Given the description of an element on the screen output the (x, y) to click on. 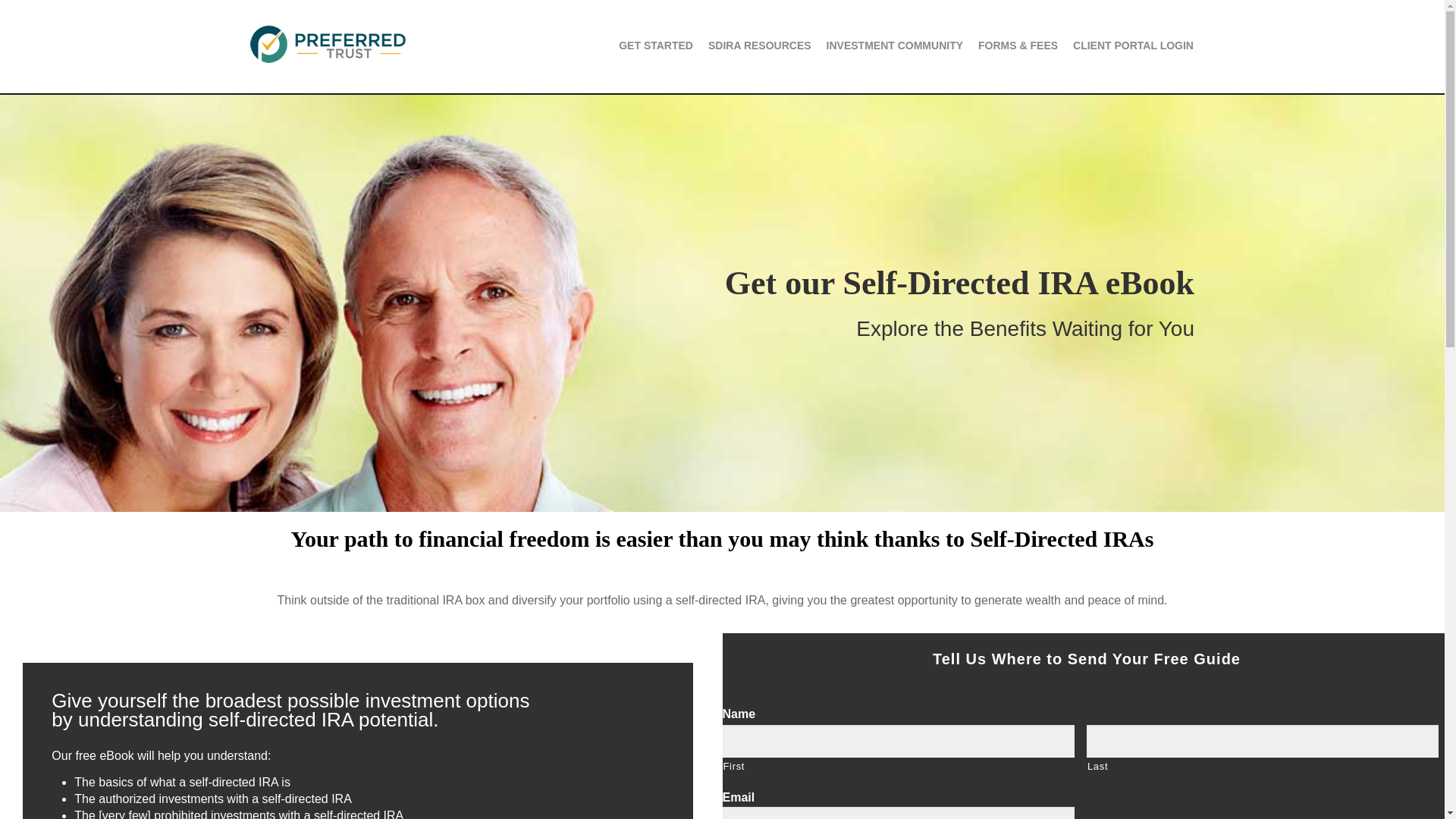
CLIENT PORTAL LOGIN (1126, 46)
INVESTMENT COMMUNITY (887, 46)
GET STARTED (649, 46)
SDIRA RESOURCES (752, 46)
